Given the description of an element on the screen output the (x, y) to click on. 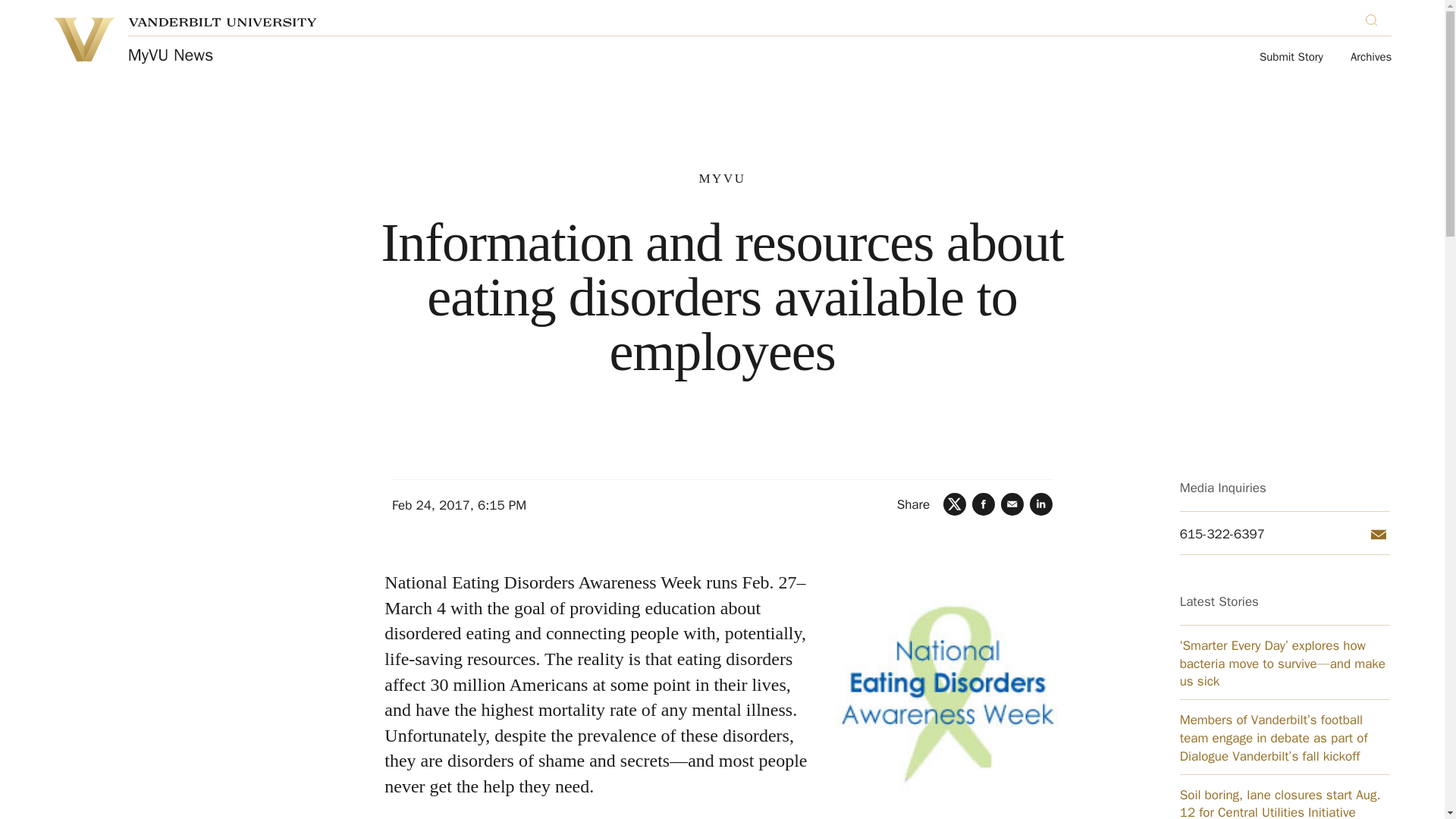
Email (1012, 504)
Twitter (954, 504)
LinkedIn (1040, 504)
Vanderbilt University (222, 21)
Vanderbilt University (83, 39)
MyVU News (171, 55)
Facebook (983, 504)
Email (1378, 534)
Archives (1371, 57)
Submit Story (1291, 57)
